Given the description of an element on the screen output the (x, y) to click on. 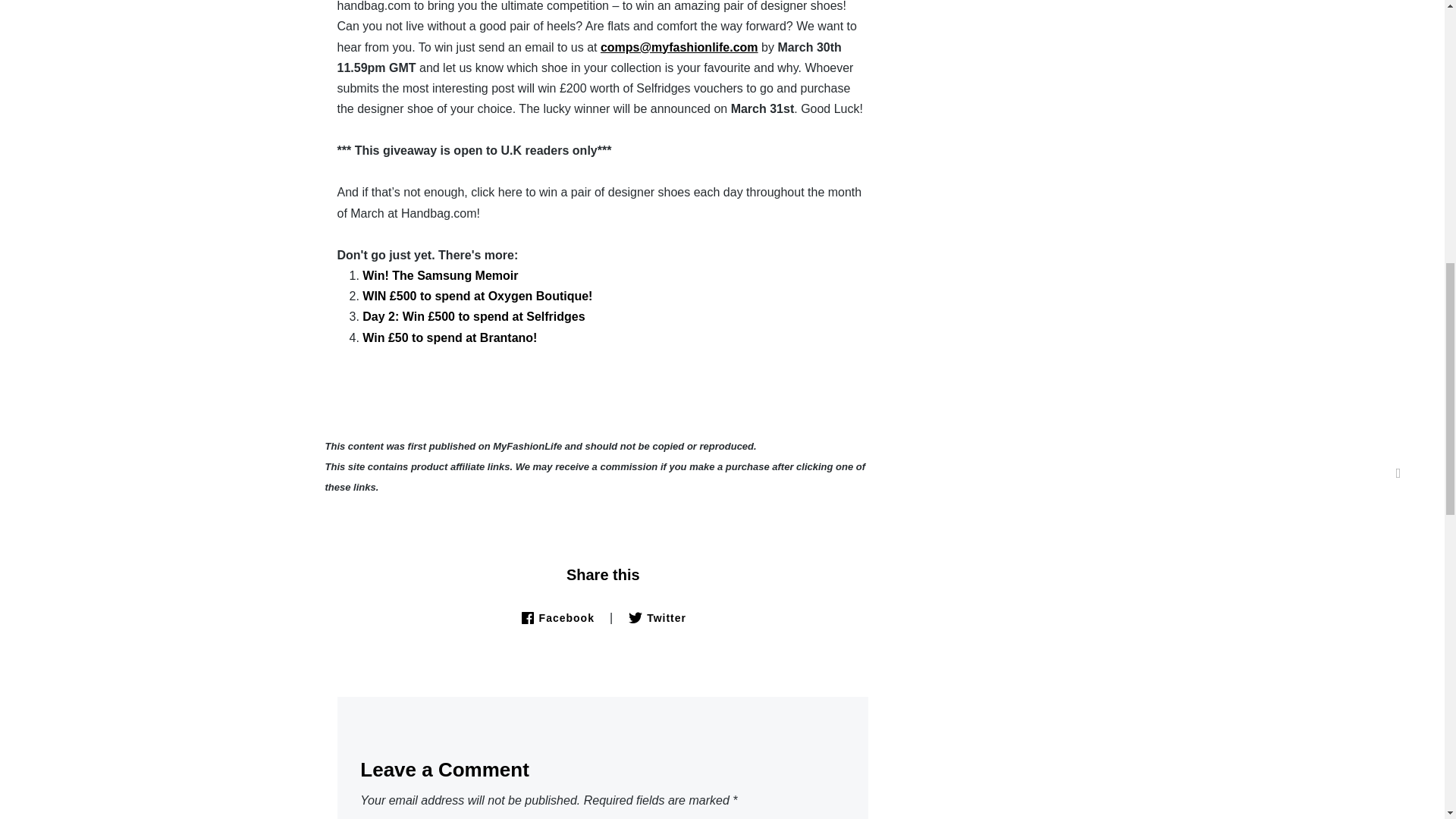
Tweet this on Twitter (656, 617)
Win! The Samsung Memoir (440, 275)
Share this on Facebook (556, 617)
